Given the description of an element on the screen output the (x, y) to click on. 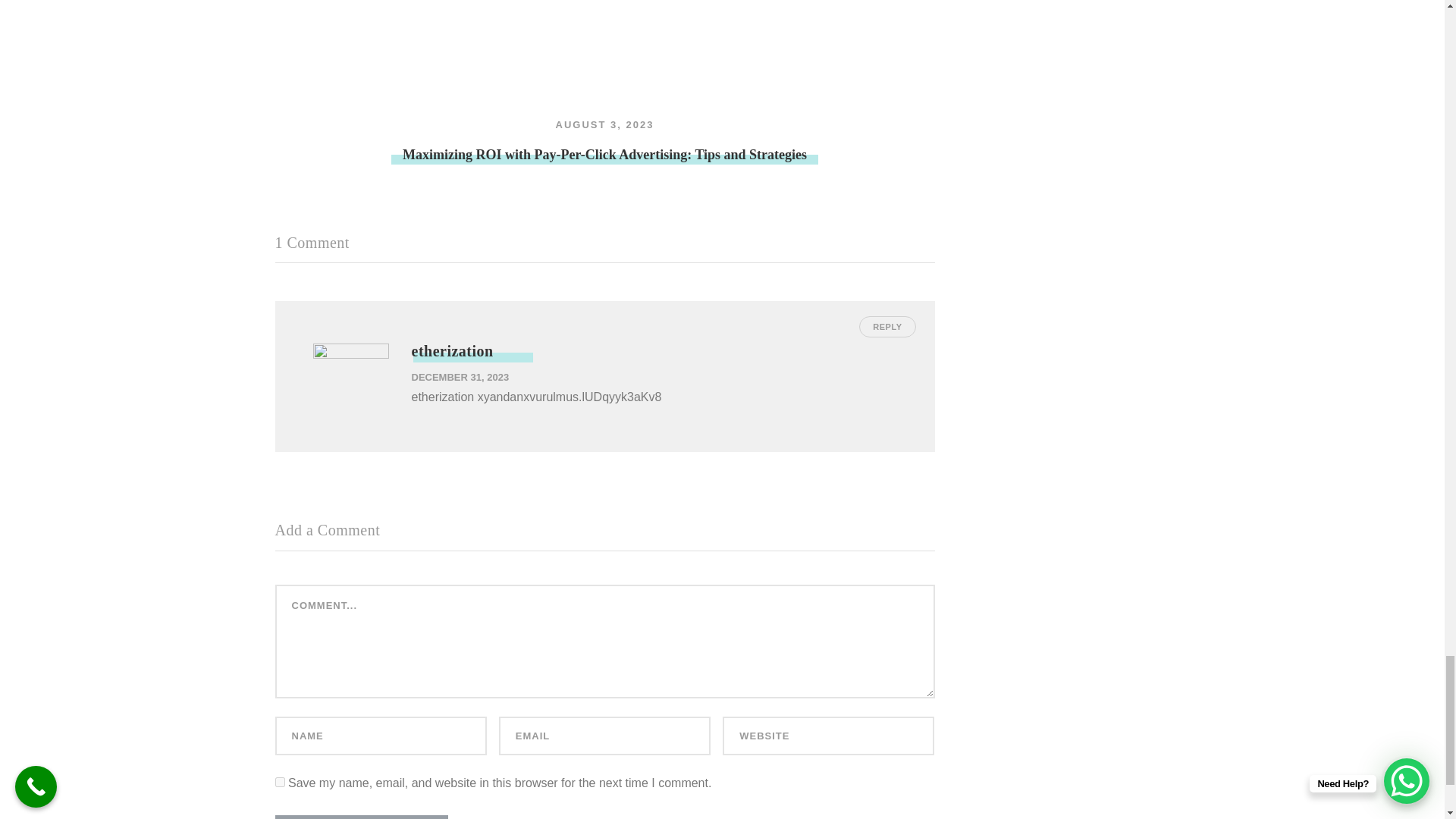
Submit Comment (361, 816)
REPLY (887, 326)
etherization (451, 351)
yes (279, 782)
